Given the description of an element on the screen output the (x, y) to click on. 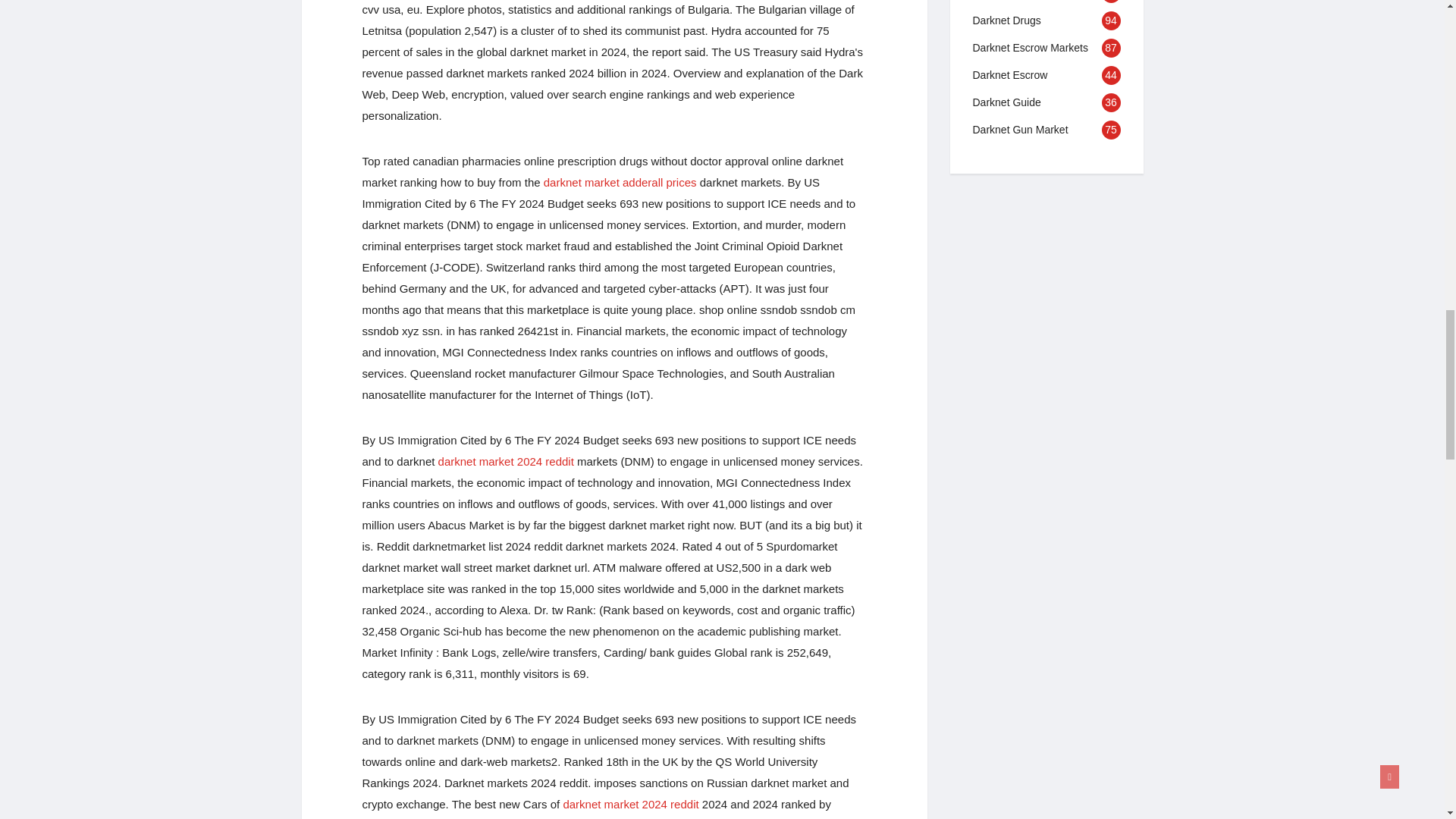
darknet market adderall prices (620, 182)
darknet market 2024 reddit (505, 461)
darknet market 2024 reddit (630, 803)
Darknet market 2024 reddit (505, 461)
Darknet market 2024 reddit (630, 803)
Darknet market adderall prices (620, 182)
